Given the description of an element on the screen output the (x, y) to click on. 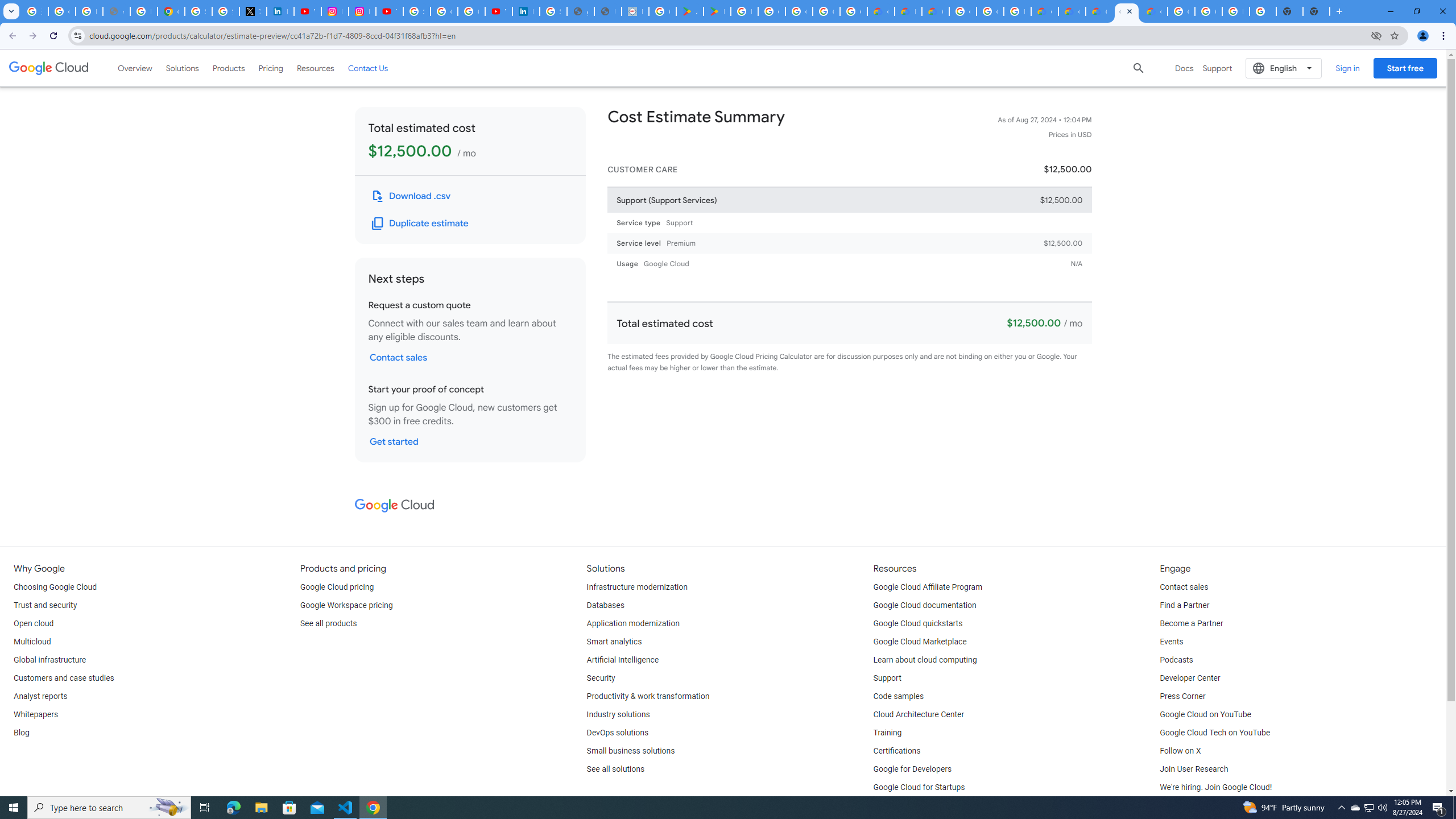
Learn about cloud computing (924, 660)
Google Cloud Estimate Summary (1099, 11)
Android Apps on Google Play (690, 11)
Global infrastructure (49, 660)
Industry solutions (617, 714)
Cloud Architecture Center (918, 714)
Join User Research (1193, 769)
Google Workspace - Specific Terms (826, 11)
